Given the description of an element on the screen output the (x, y) to click on. 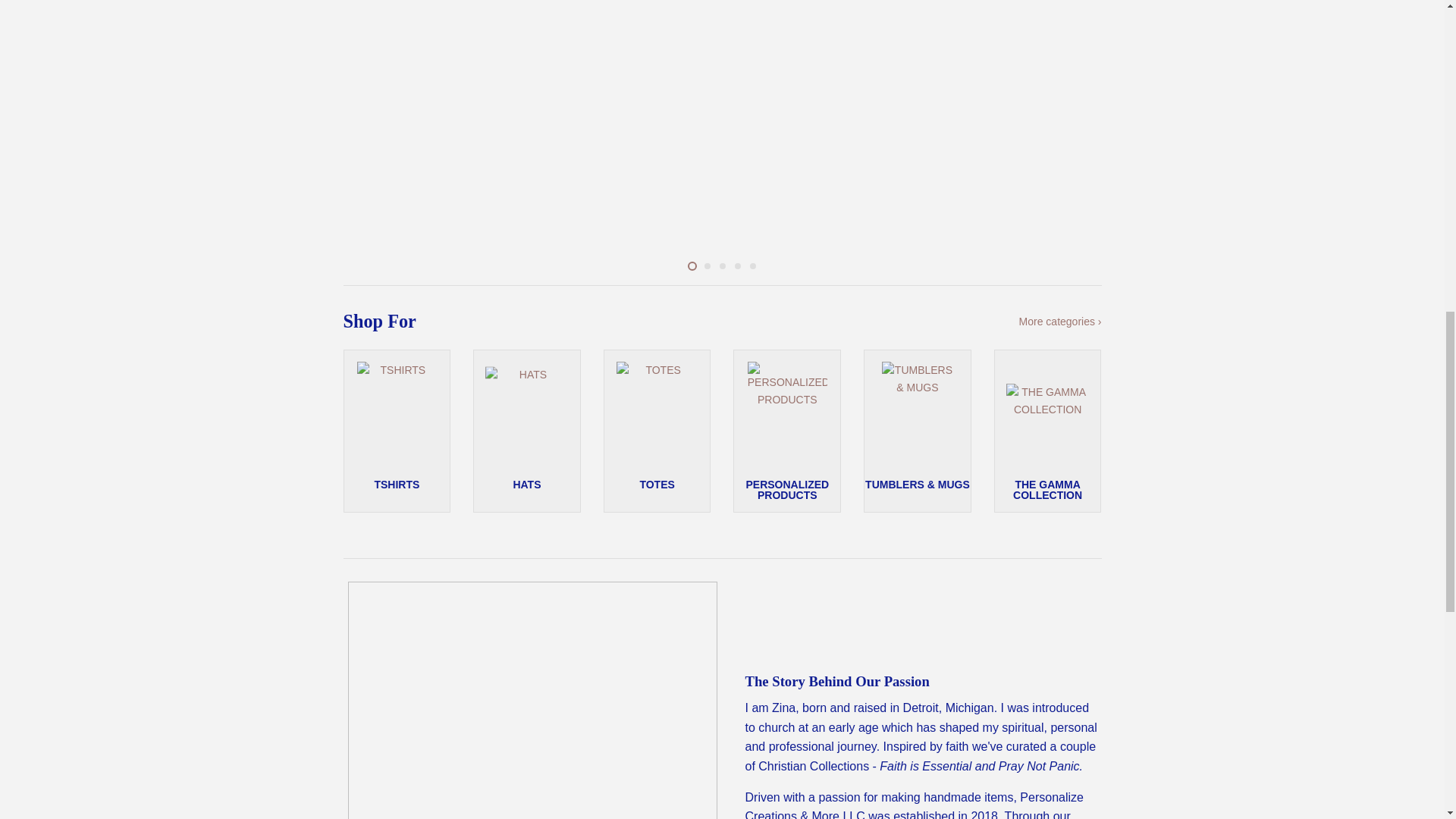
4 (736, 266)
1 (691, 266)
3 (721, 266)
2 (706, 266)
5 (752, 266)
